Given the description of an element on the screen output the (x, y) to click on. 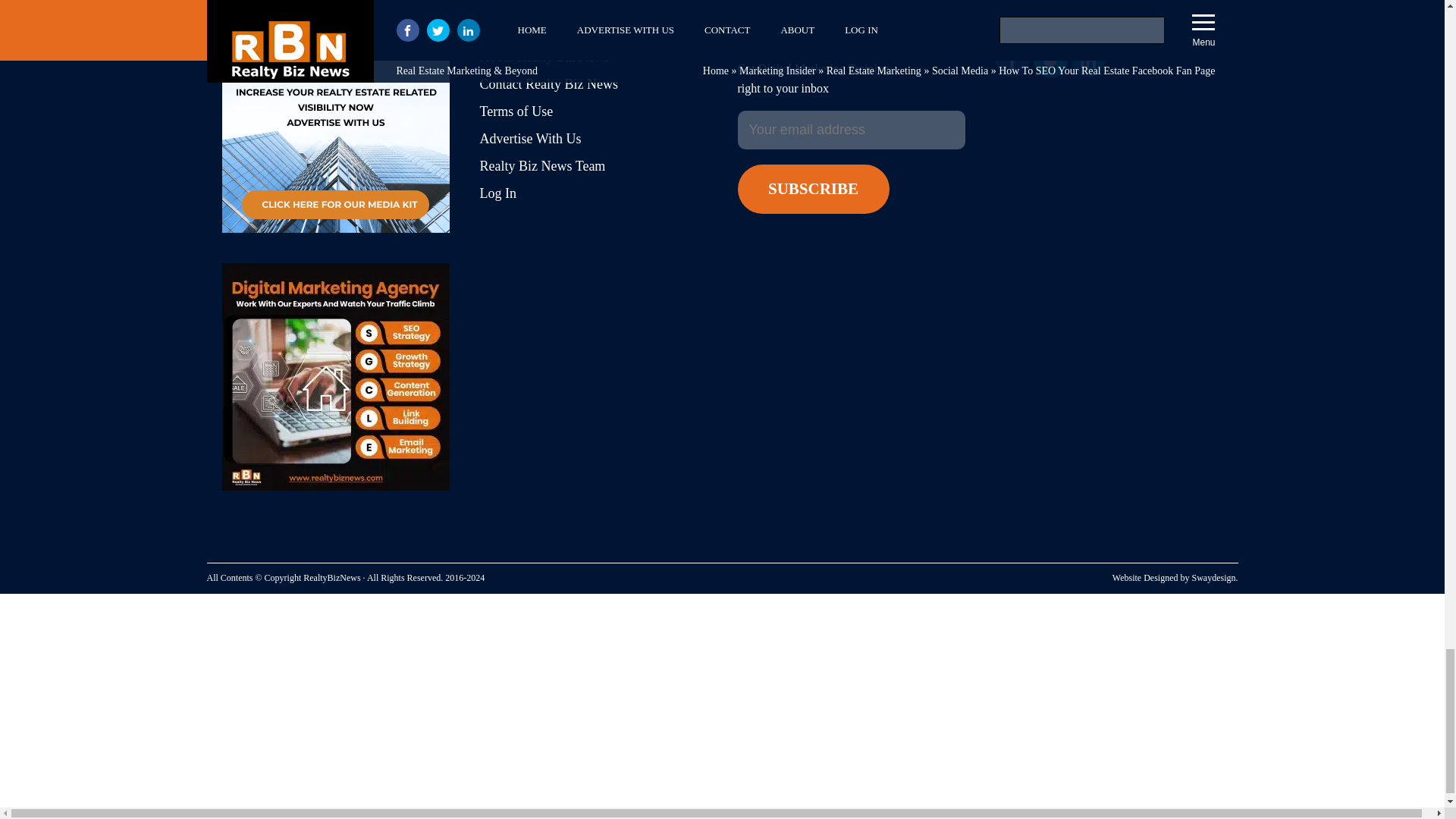
Subscribe (812, 188)
